Given the description of an element on the screen output the (x, y) to click on. 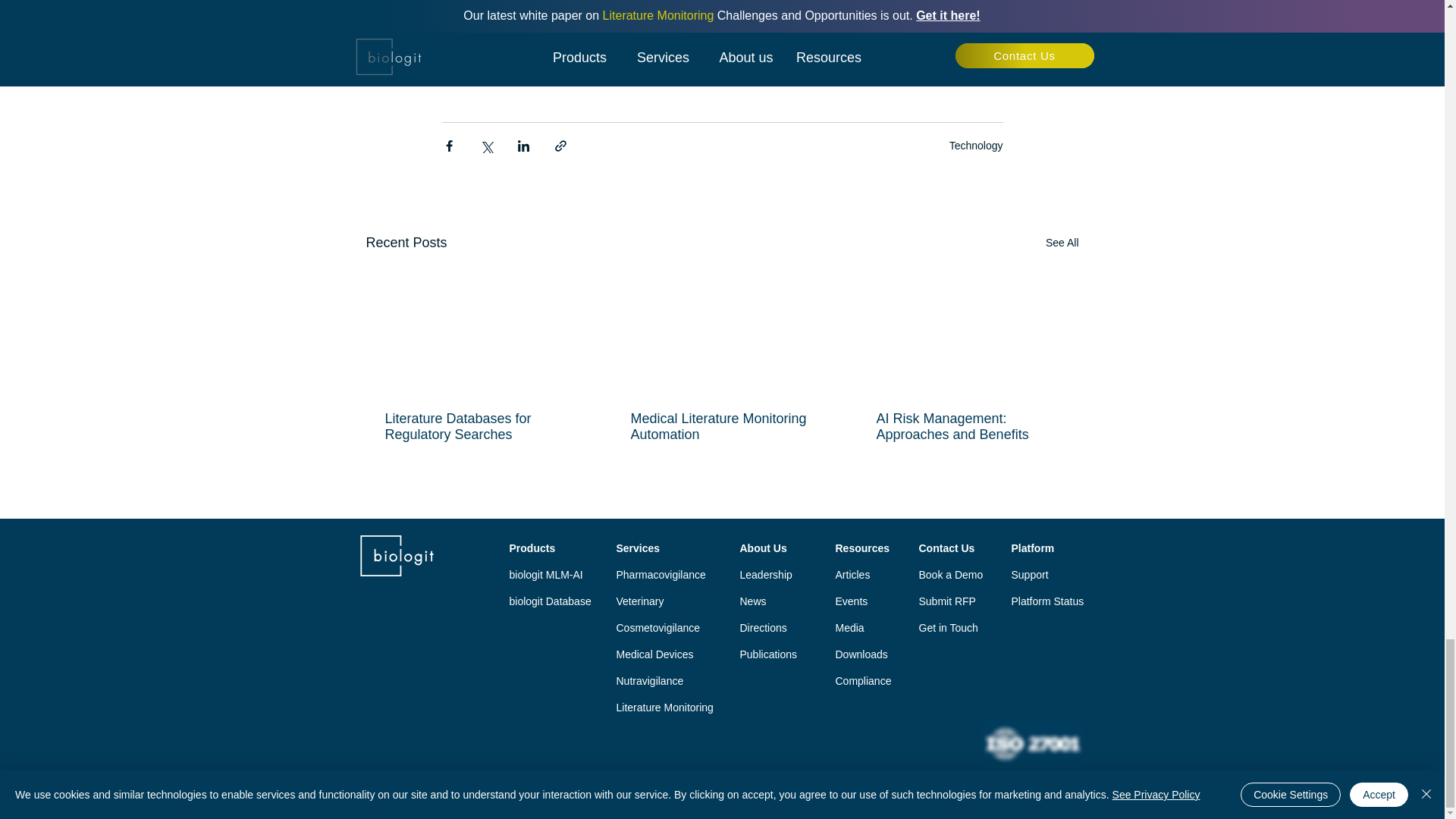
See All (1061, 242)
Book a Demo (722, 39)
Technology (976, 145)
